Given the description of an element on the screen output the (x, y) to click on. 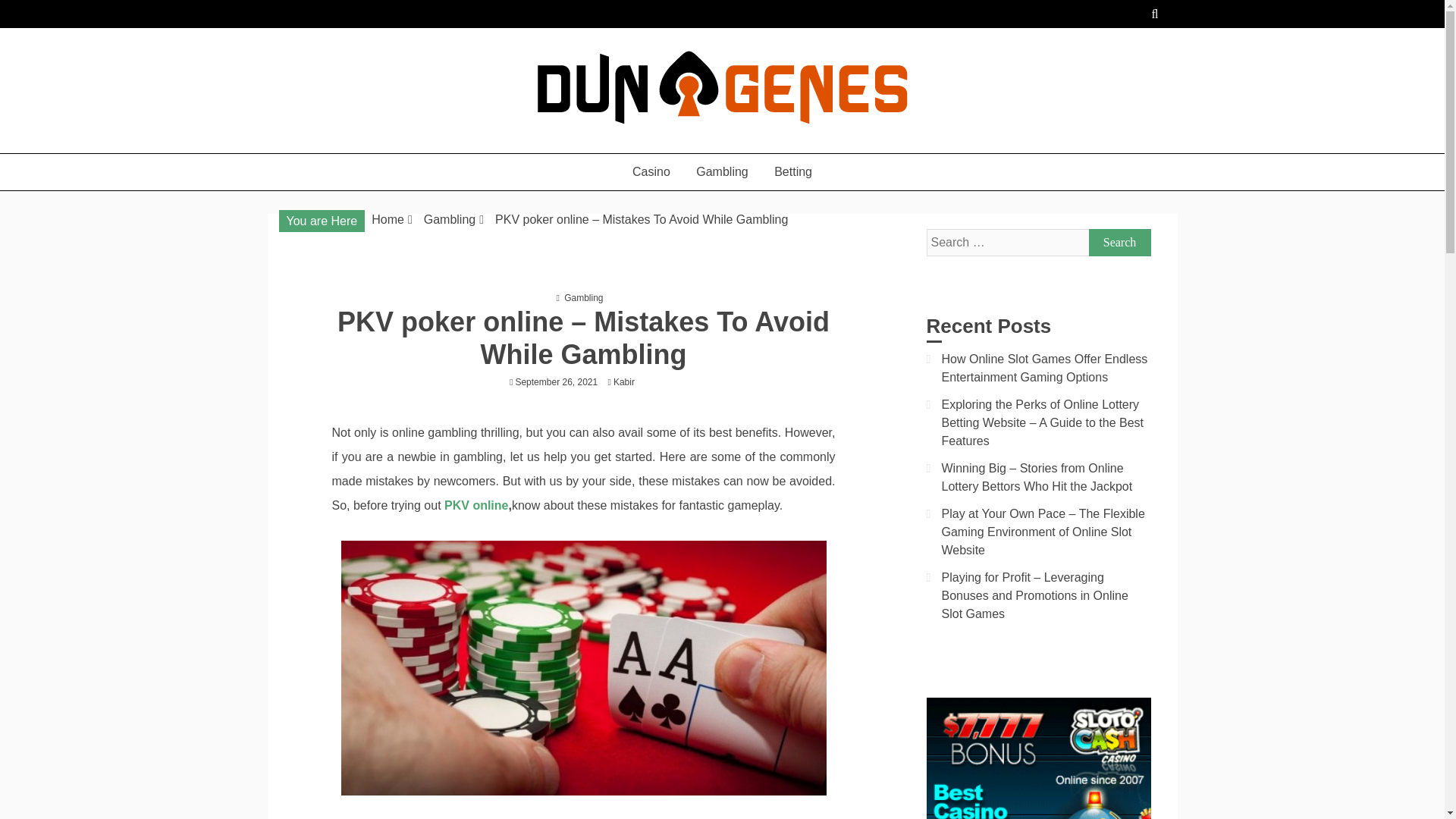
Betting (793, 171)
Gambling (721, 171)
Casino (651, 171)
September 26, 2021 (555, 381)
Search (1120, 242)
Kabir (627, 381)
Gambling (449, 219)
Casino play free online (412, 146)
Search (1120, 242)
